Given the description of an element on the screen output the (x, y) to click on. 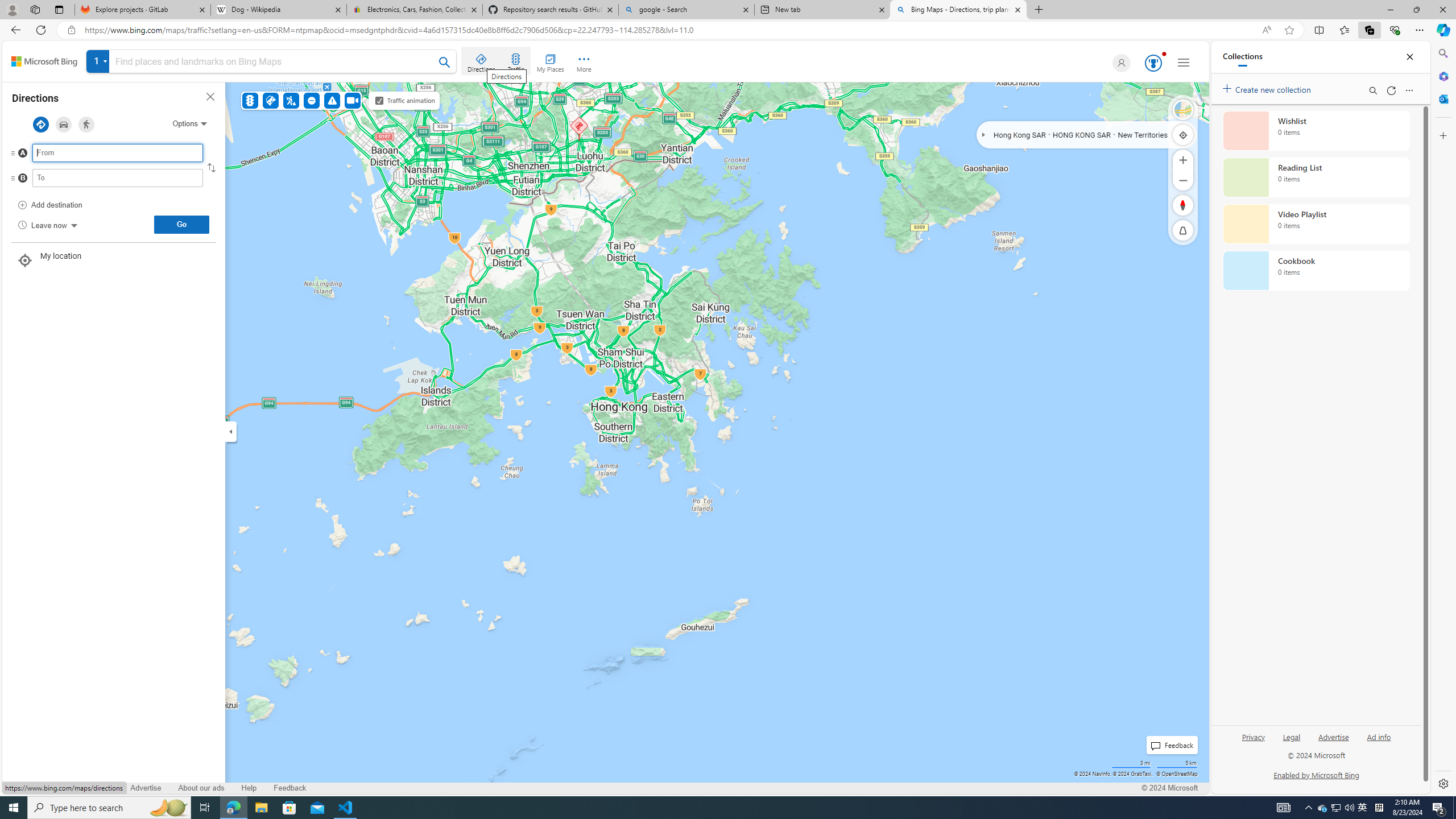
1 (270, 62)
Go (180, 224)
Streetside (1182, 109)
Help (248, 787)
